Given the description of an element on the screen output the (x, y) to click on. 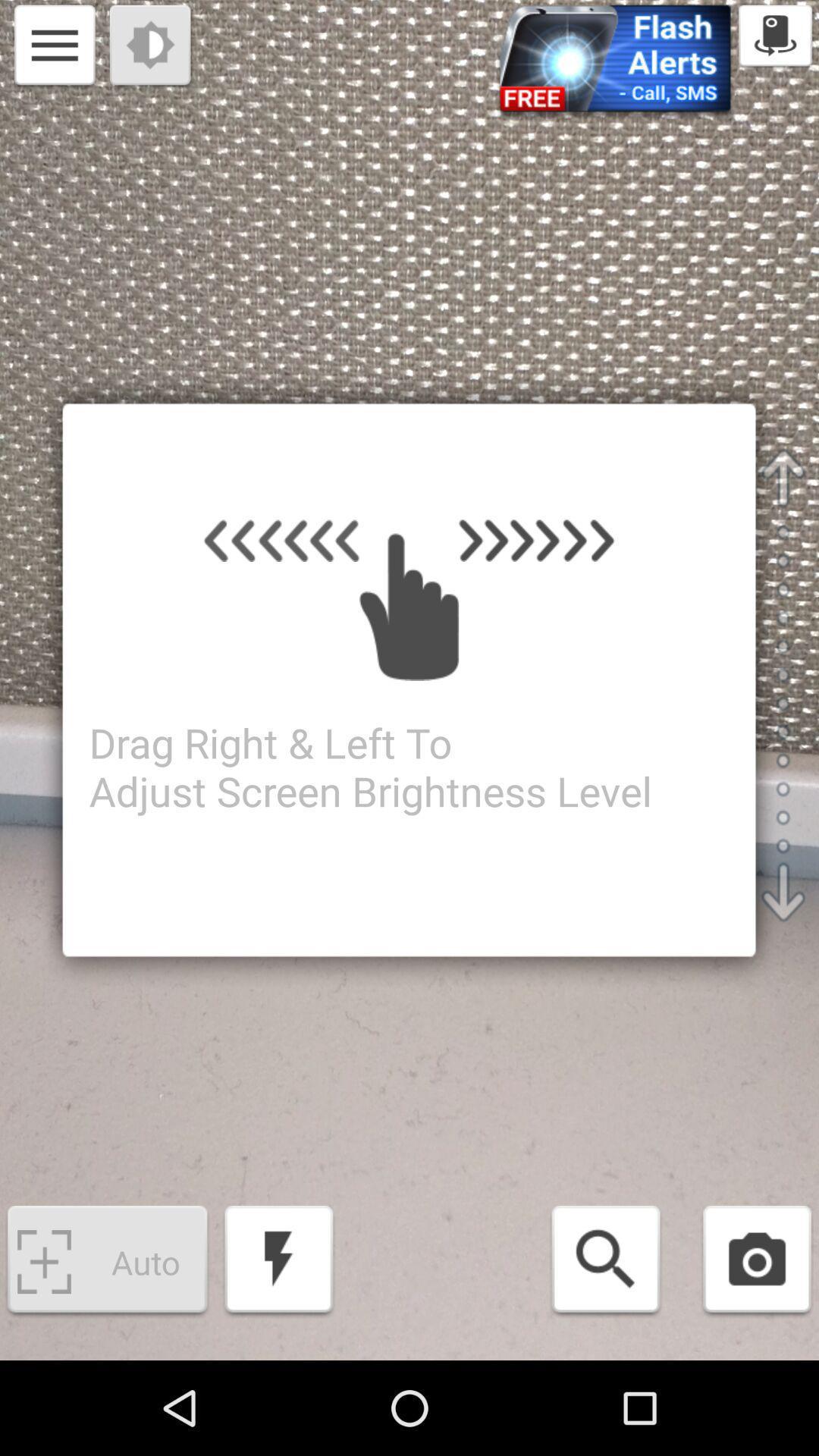
menu (54, 47)
